Given the description of an element on the screen output the (x, y) to click on. 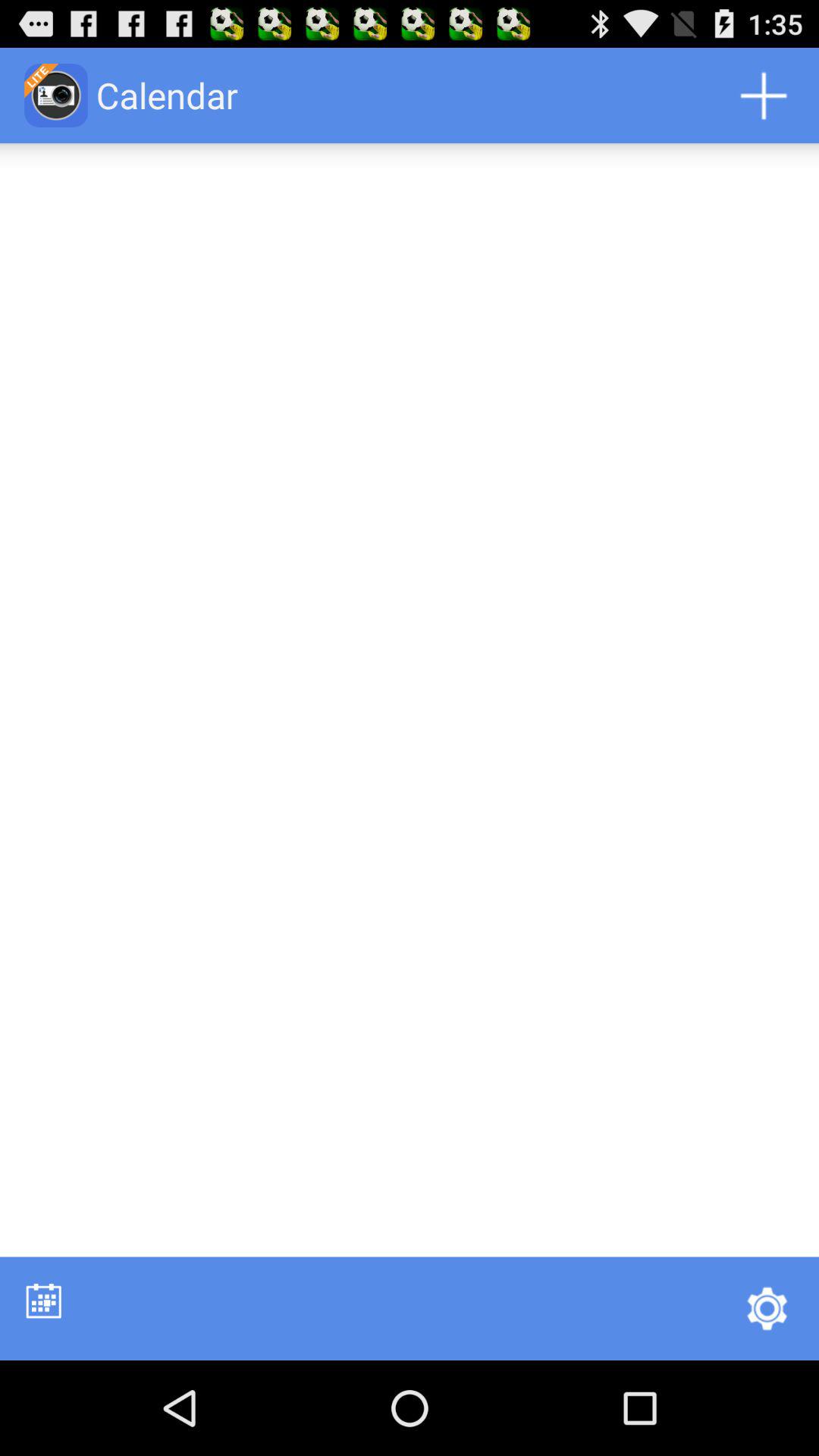
open the item at the center (409, 699)
